Given the description of an element on the screen output the (x, y) to click on. 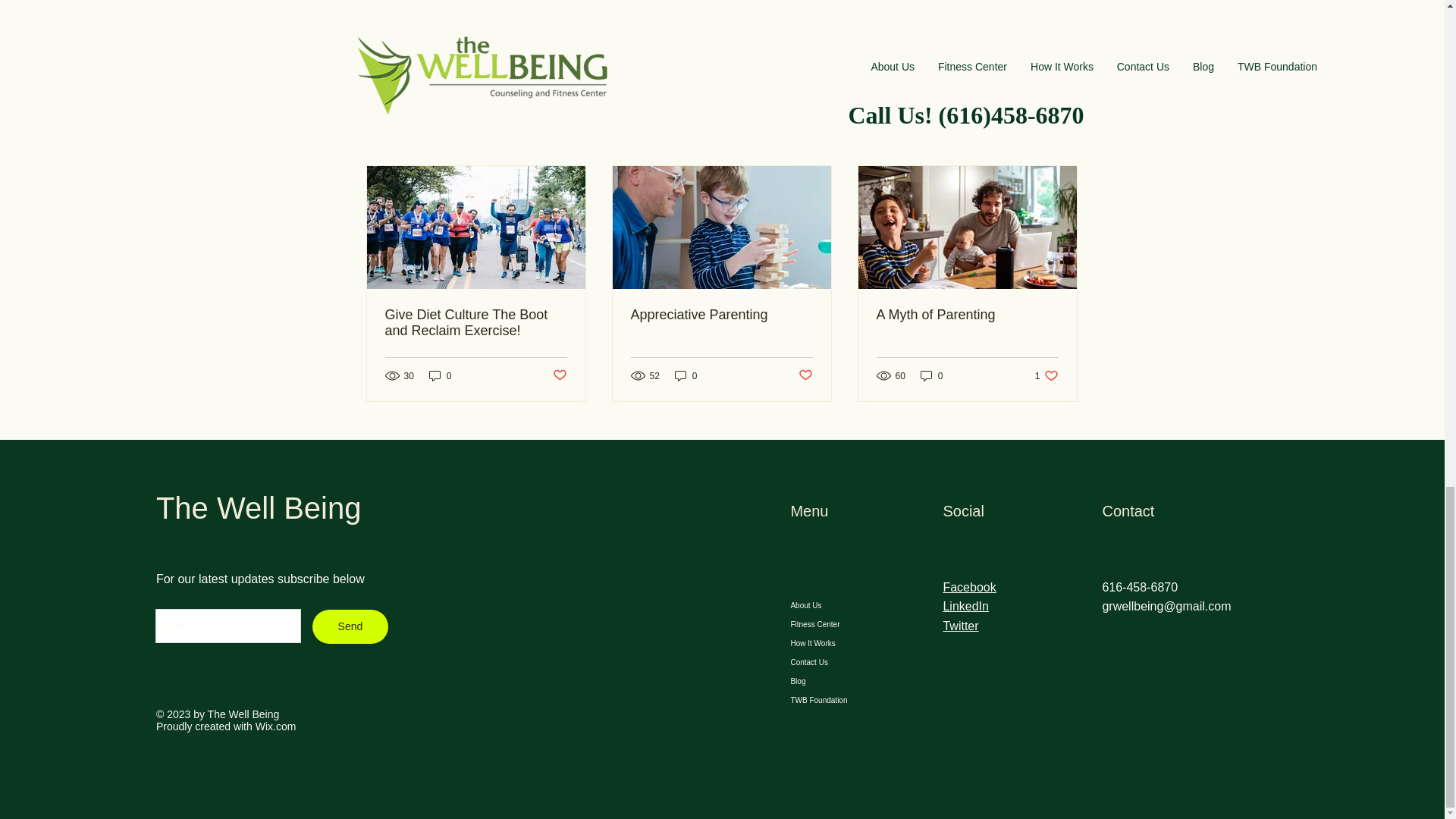
Appreciative Parenting (721, 314)
0 (685, 375)
0 (440, 375)
A Myth of Parenting (967, 314)
Post not marked as liked (558, 375)
0 (931, 375)
Post not marked as liked (804, 375)
How It Works (836, 642)
Blog (836, 681)
About Us (836, 605)
See All (1061, 138)
Wix.com (276, 726)
Give Diet Culture The Boot and Reclaim Exercise! (476, 323)
Contact Us (836, 661)
Send (350, 626)
